Given the description of an element on the screen output the (x, y) to click on. 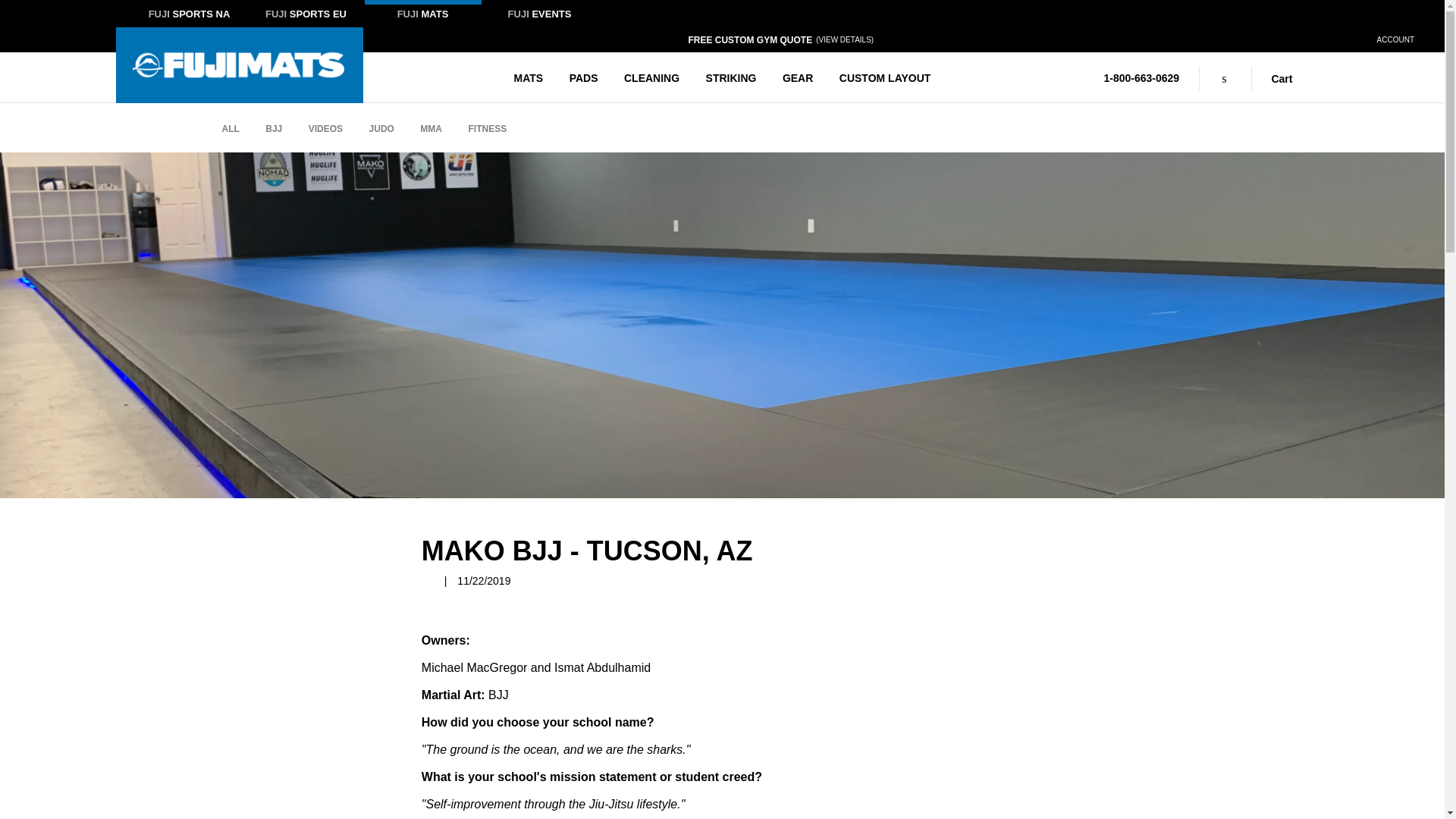
Fuji Sports EU (305, 15)
FUJI EVENTS (538, 15)
ACCOUNT (1395, 39)
Fuji Events (538, 15)
FUJI SPORTS EU (305, 15)
MATS (528, 78)
FUJI MATS (422, 15)
Fuji Mats (422, 15)
Fuji Sports NA (189, 15)
FUJI SPORTS NA (189, 15)
